Given the description of an element on the screen output the (x, y) to click on. 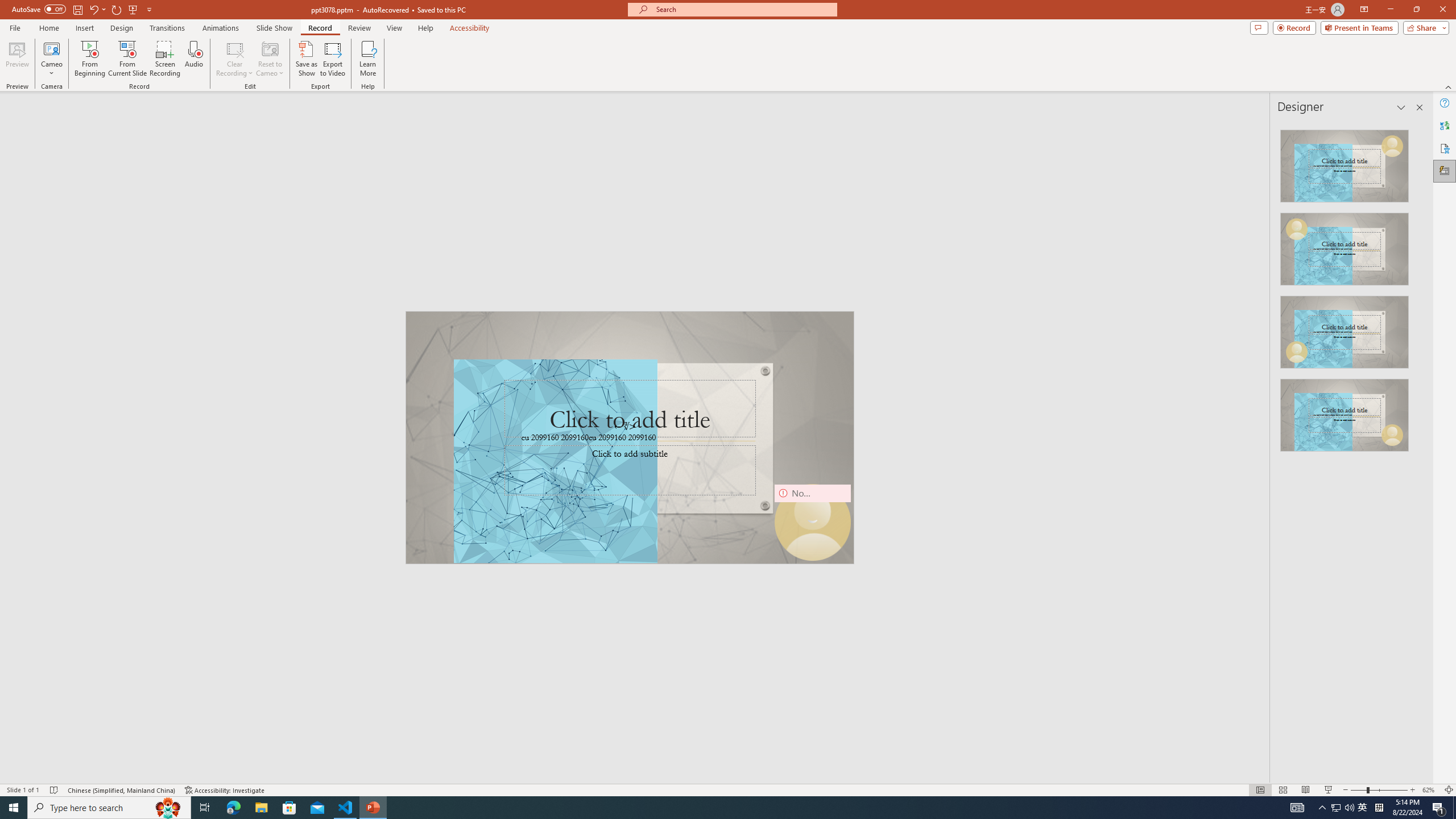
TextBox 61 (628, 438)
Zoom 62% (1430, 790)
